Given the description of an element on the screen output the (x, y) to click on. 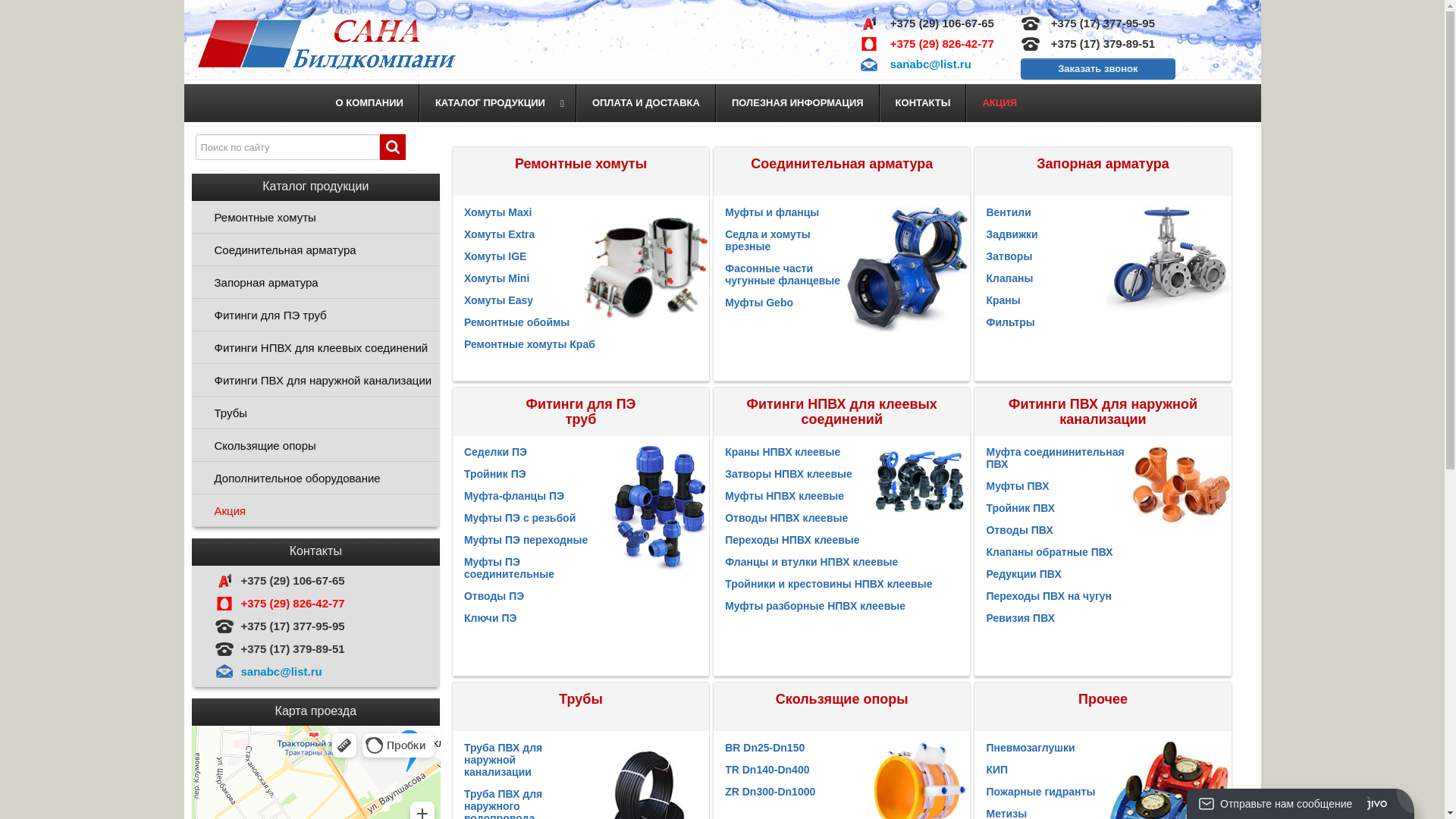
TR Dn140-Dn400 Element type: text (766, 768)
BR Dn25-Dn150 Element type: text (764, 747)
sanabc@list.ru Element type: text (930, 63)
ZR Dn300-Dn1000 Element type: text (769, 791)
sanabc@list.ru Element type: text (281, 671)
